Given the description of an element on the screen output the (x, y) to click on. 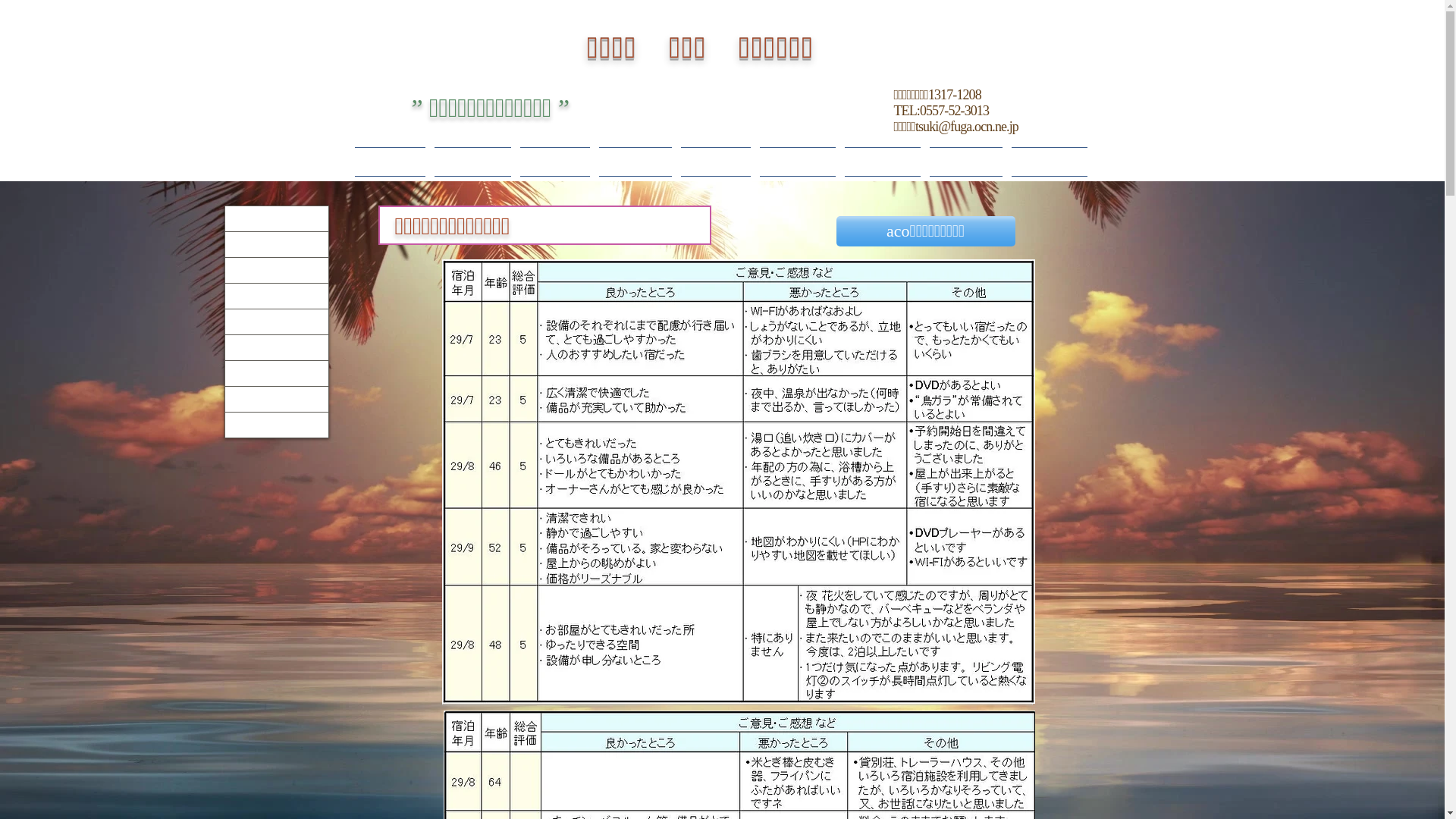
tsuki@fuga.ocn.ne.jp Element type: text (966, 126)
